Given the description of an element on the screen output the (x, y) to click on. 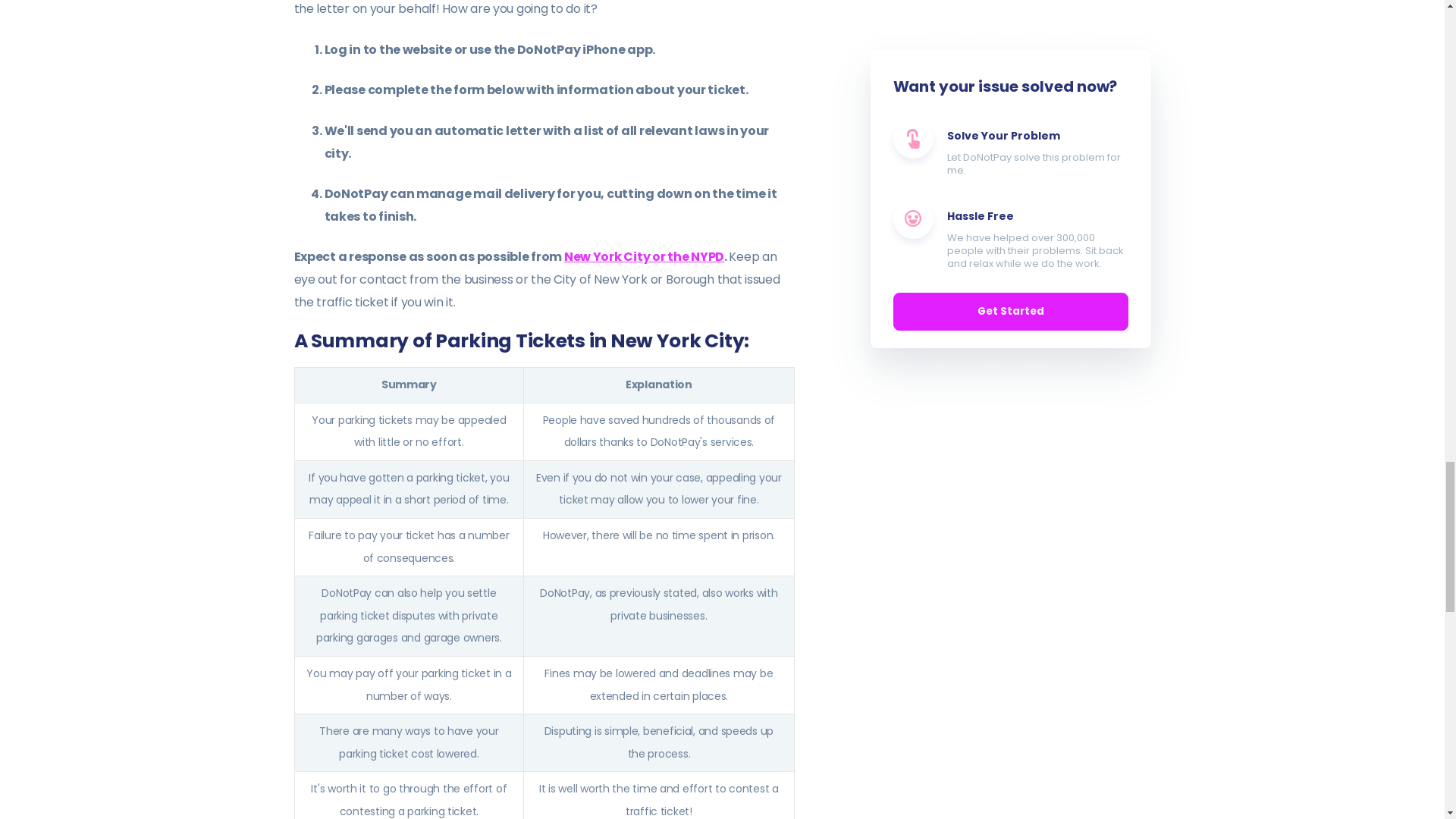
New York City or the NYPD (643, 256)
